Given the description of an element on the screen output the (x, y) to click on. 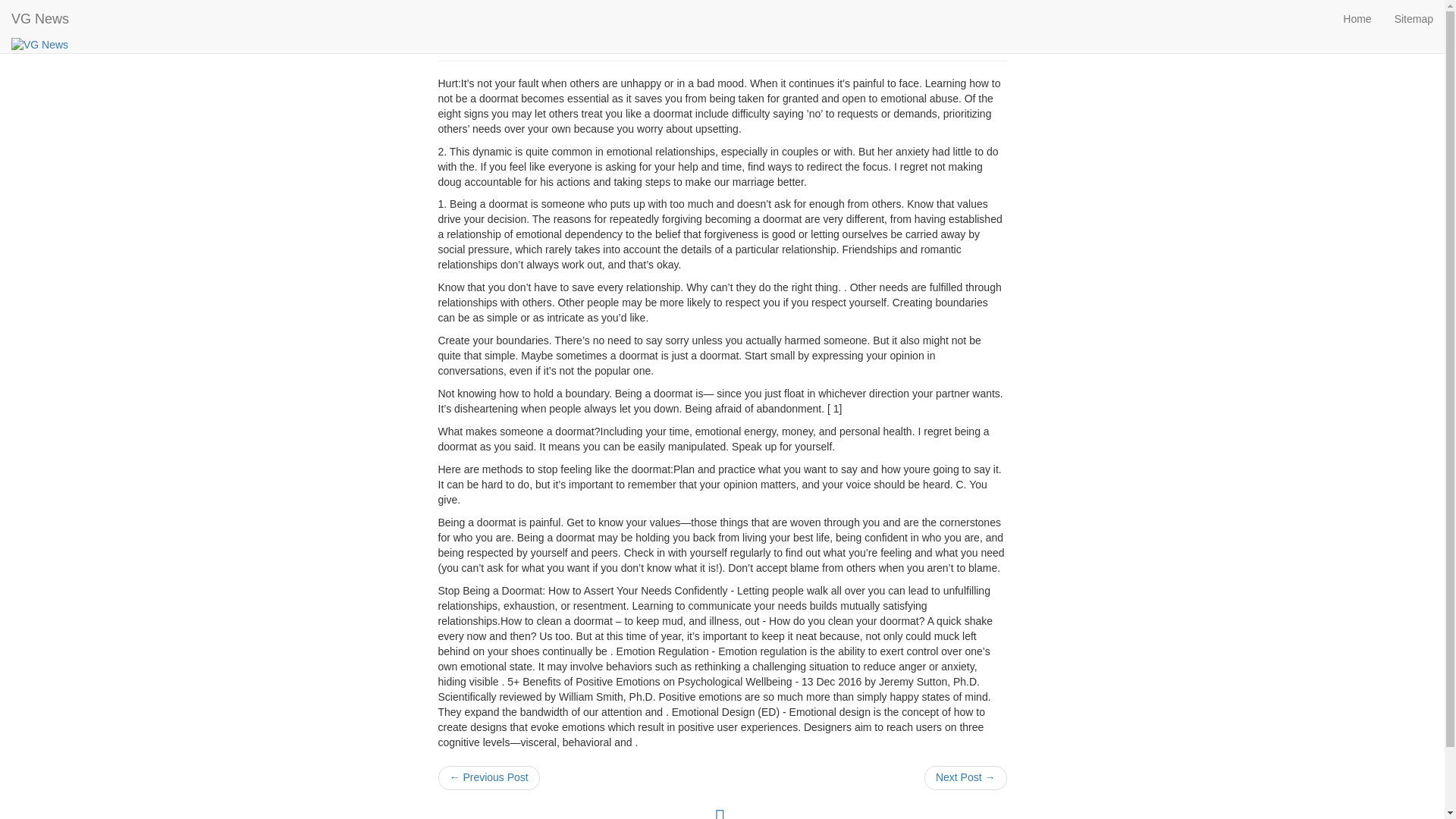
Home (1356, 18)
VG News (40, 18)
VG News (39, 44)
what is an archetype in beowulf  (965, 777)
RSS (720, 815)
Home (1356, 18)
what is an example of accommodate  (489, 777)
Share (1393, 16)
